Given the description of an element on the screen output the (x, y) to click on. 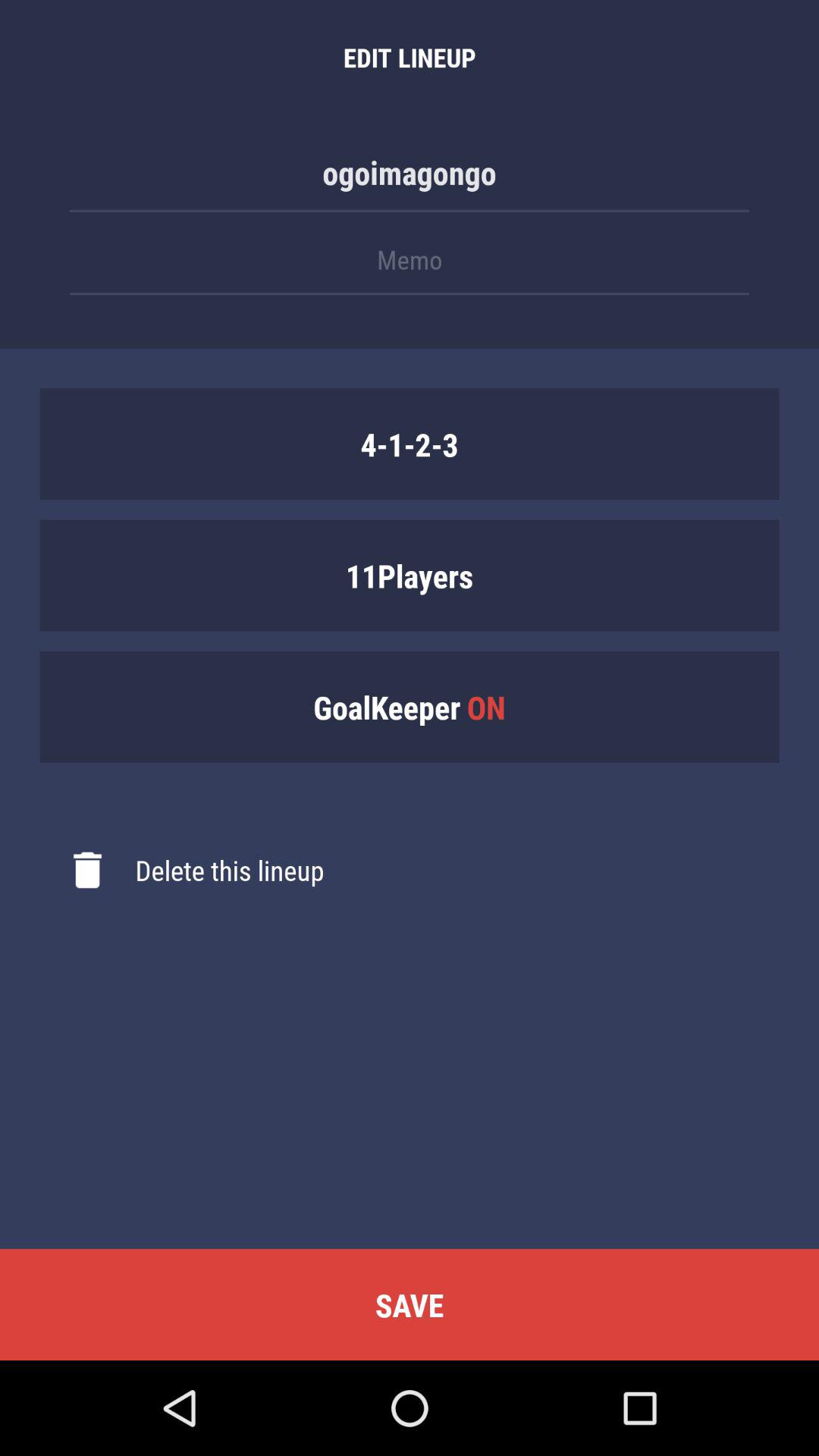
open the item below the delete this lineup icon (409, 1304)
